Given the description of an element on the screen output the (x, y) to click on. 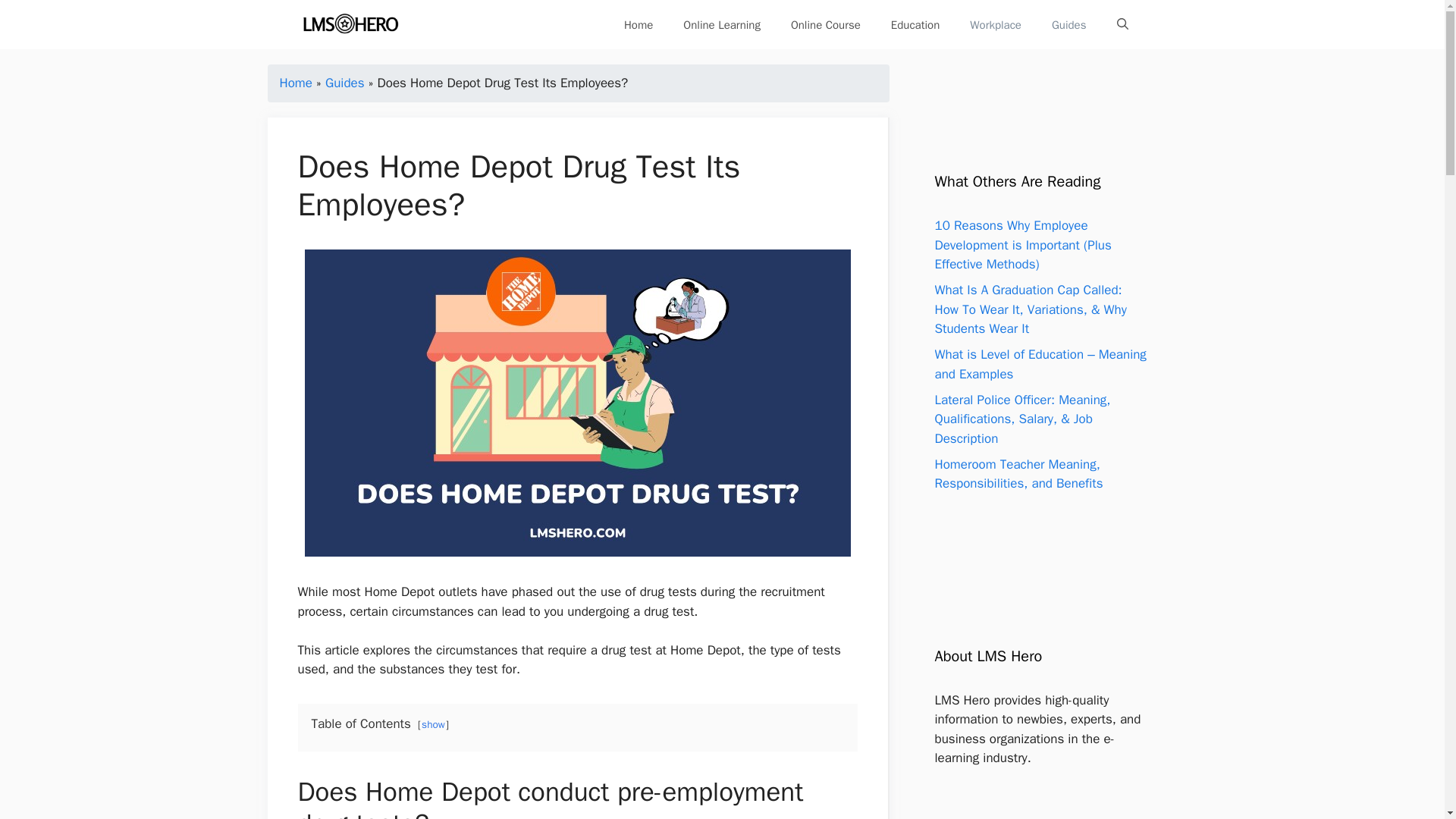
Guides (344, 82)
Home (638, 23)
Online Learning (722, 23)
Guides (1069, 23)
Home (295, 82)
Workplace (995, 23)
LMS Hero (349, 24)
Online Course (826, 23)
show (433, 724)
Education (915, 23)
